Given the description of an element on the screen output the (x, y) to click on. 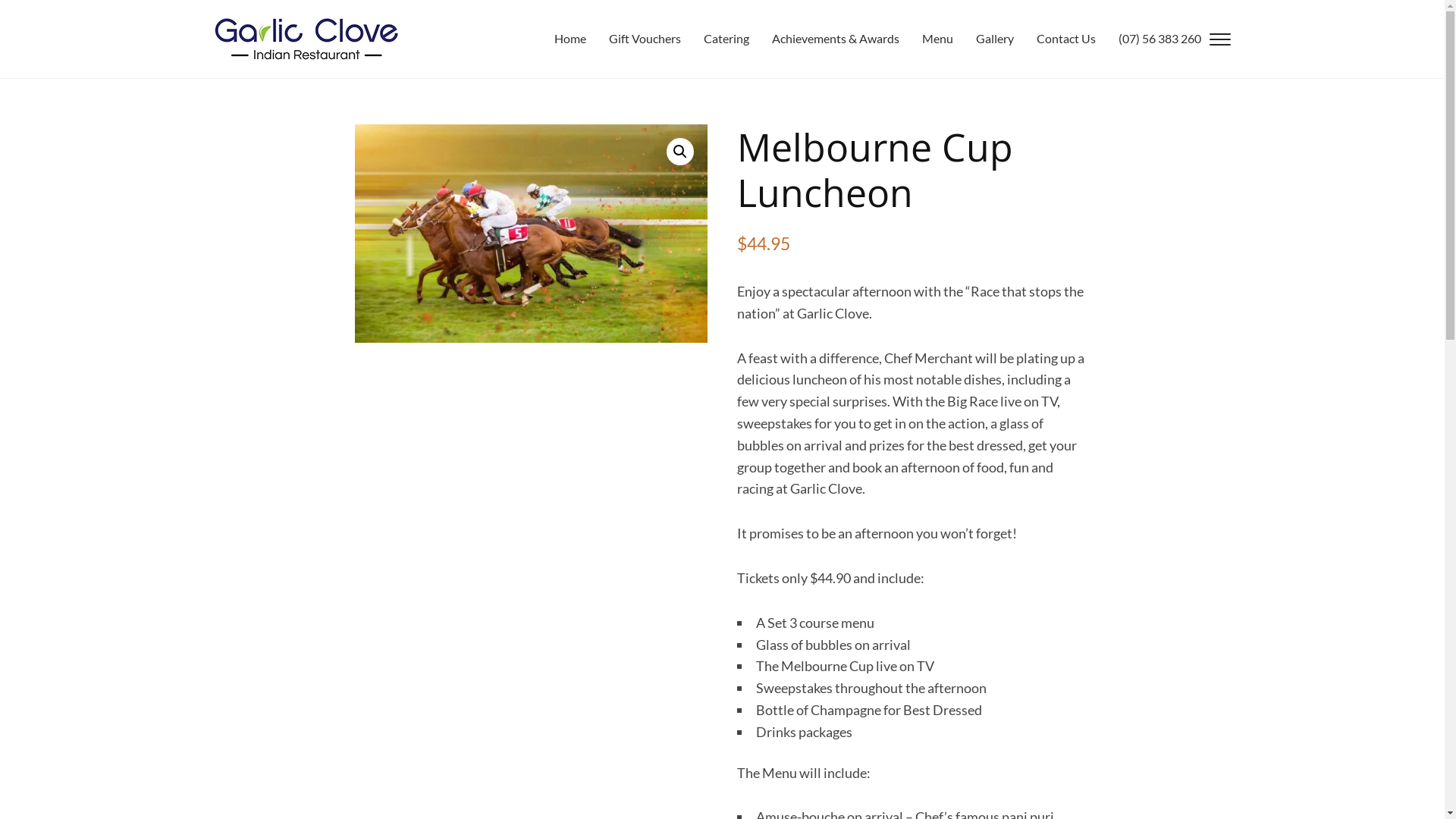
Home Element type: text (558, 42)
Menu Element type: text (926, 42)
Contact Us Element type: text (1054, 42)
Catering Element type: text (714, 42)
Achievements & Awards Element type: text (824, 42)
Gallery Element type: text (983, 42)
Gift Vouchers Element type: text (633, 42)
Toggle sidebar & navigation Element type: text (1219, 39)
(07) 56 383 260 Element type: text (1148, 42)
